Given the description of an element on the screen output the (x, y) to click on. 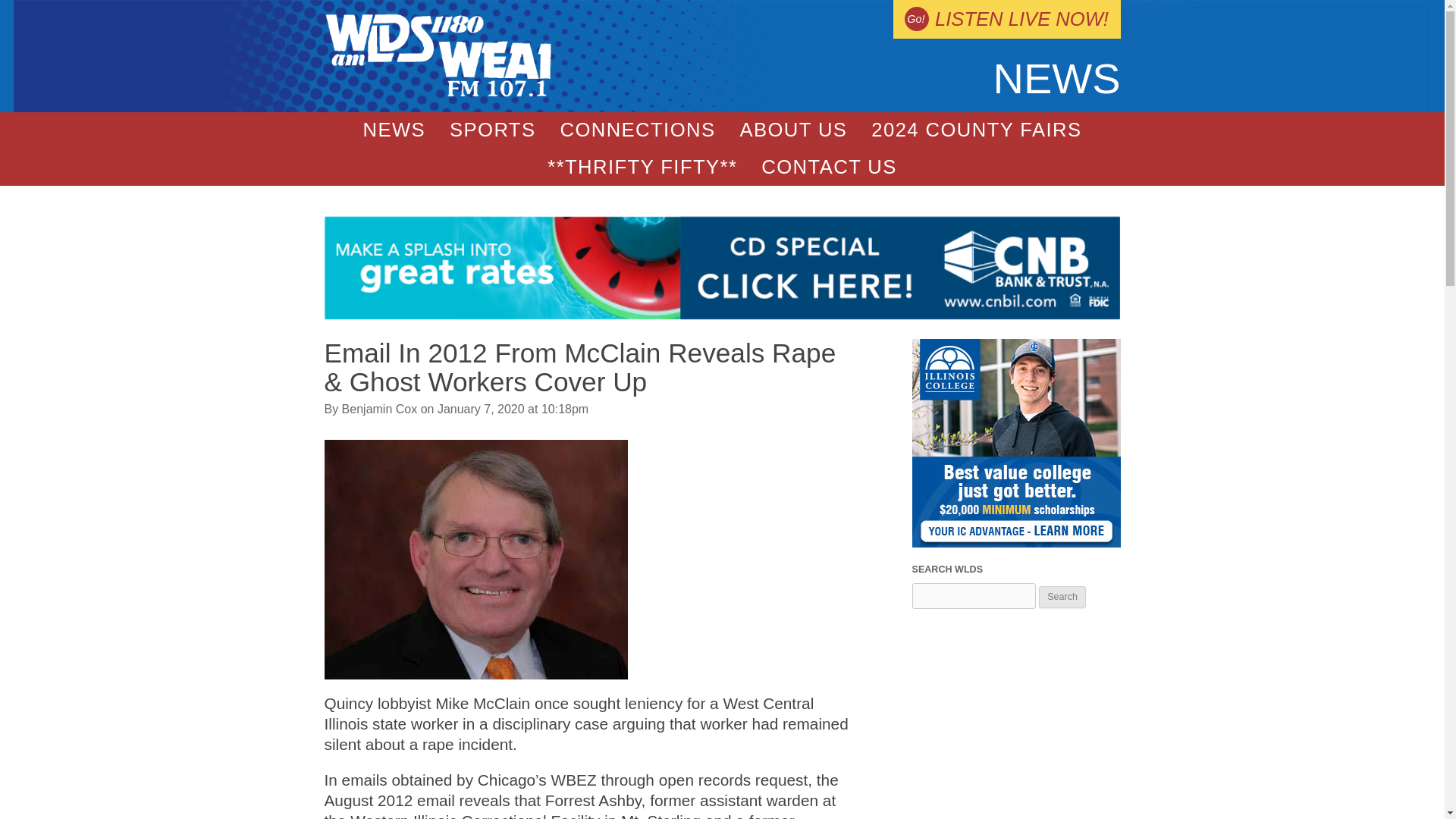
LISTEN LIVE NOW! (1006, 19)
WLDS (437, 92)
2024 COUNTY FAIRS (976, 130)
Search (1062, 597)
CONTACT US (828, 167)
Search (1062, 597)
